Given the description of an element on the screen output the (x, y) to click on. 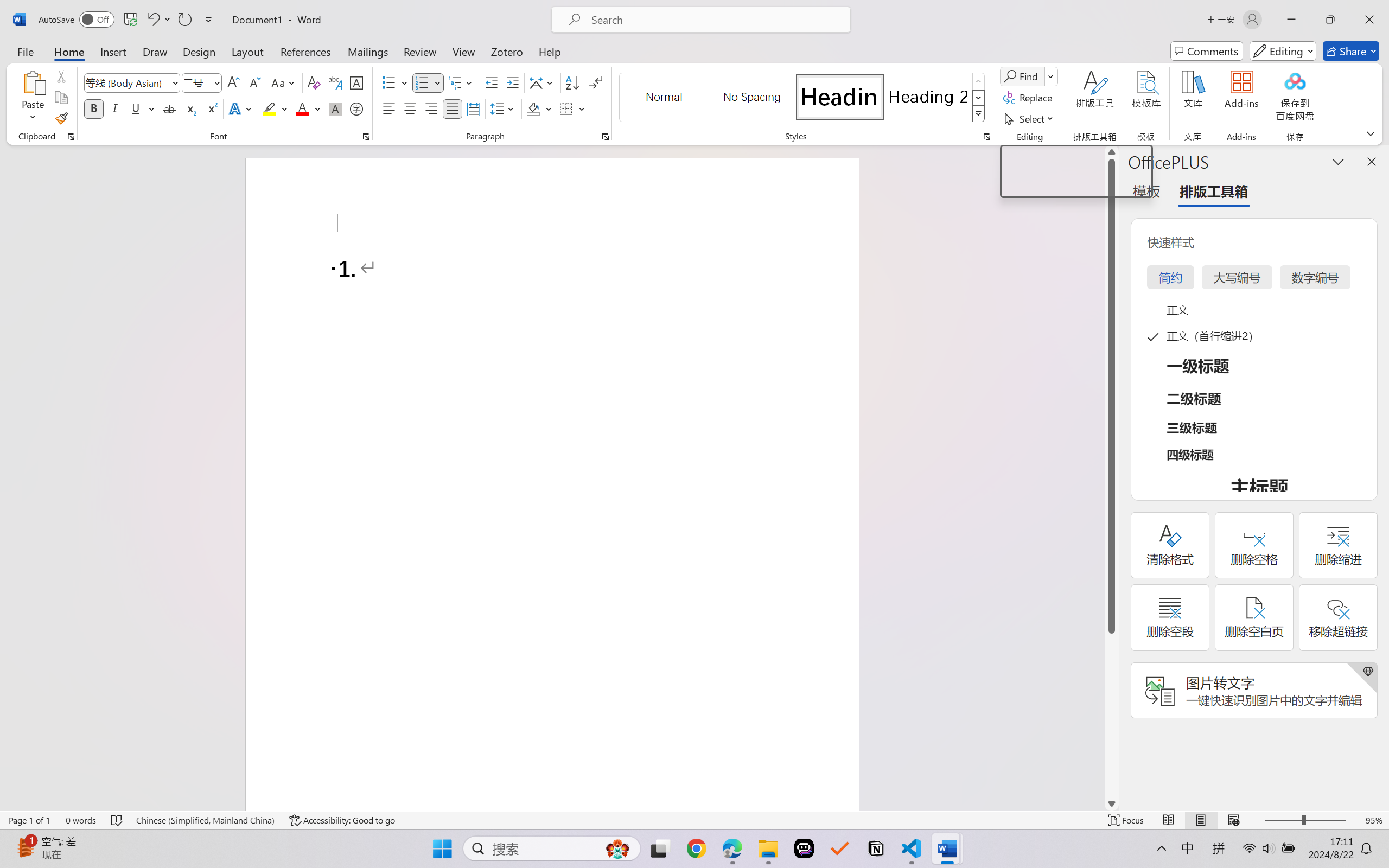
Undo Number Default (152, 19)
